Given the description of an element on the screen output the (x, y) to click on. 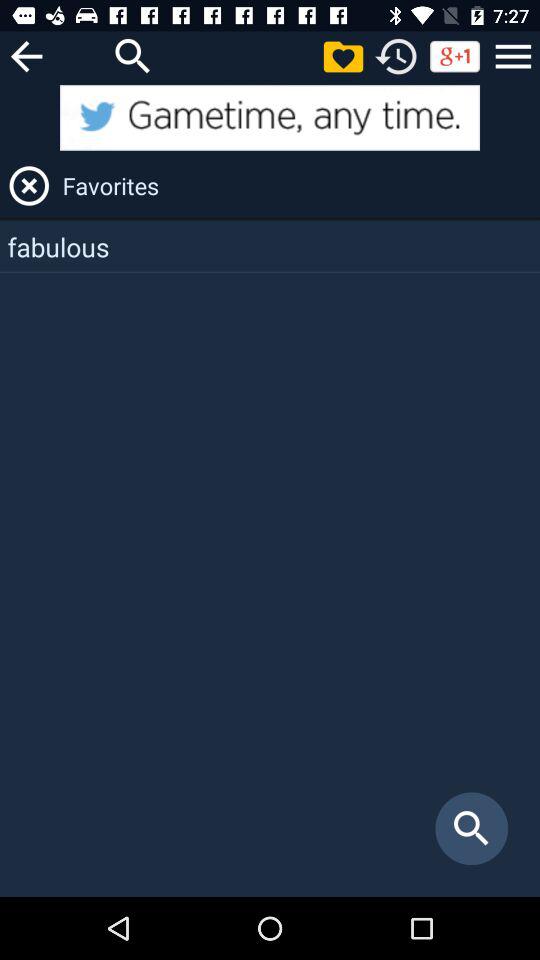
list the options for action (513, 56)
